Given the description of an element on the screen output the (x, y) to click on. 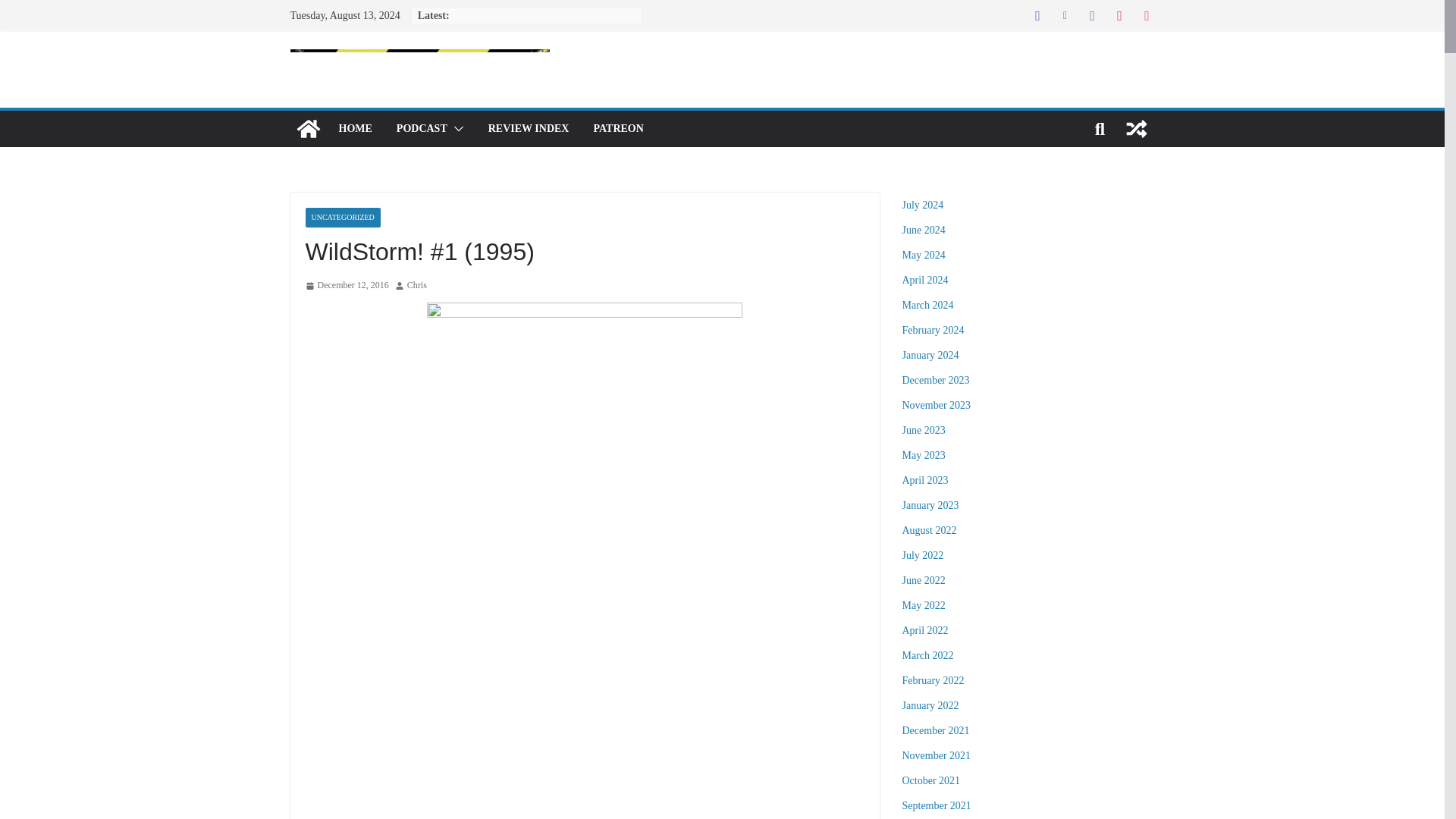
UNCATEGORIZED (342, 217)
REVIEW INDEX (528, 128)
Chris (416, 285)
View a random post (1136, 128)
December 12, 2016 (346, 285)
PODCAST (421, 128)
Chris (416, 285)
PATREON (617, 128)
Chris is on Infinite Earths (307, 128)
HOME (354, 128)
